Given the description of an element on the screen output the (x, y) to click on. 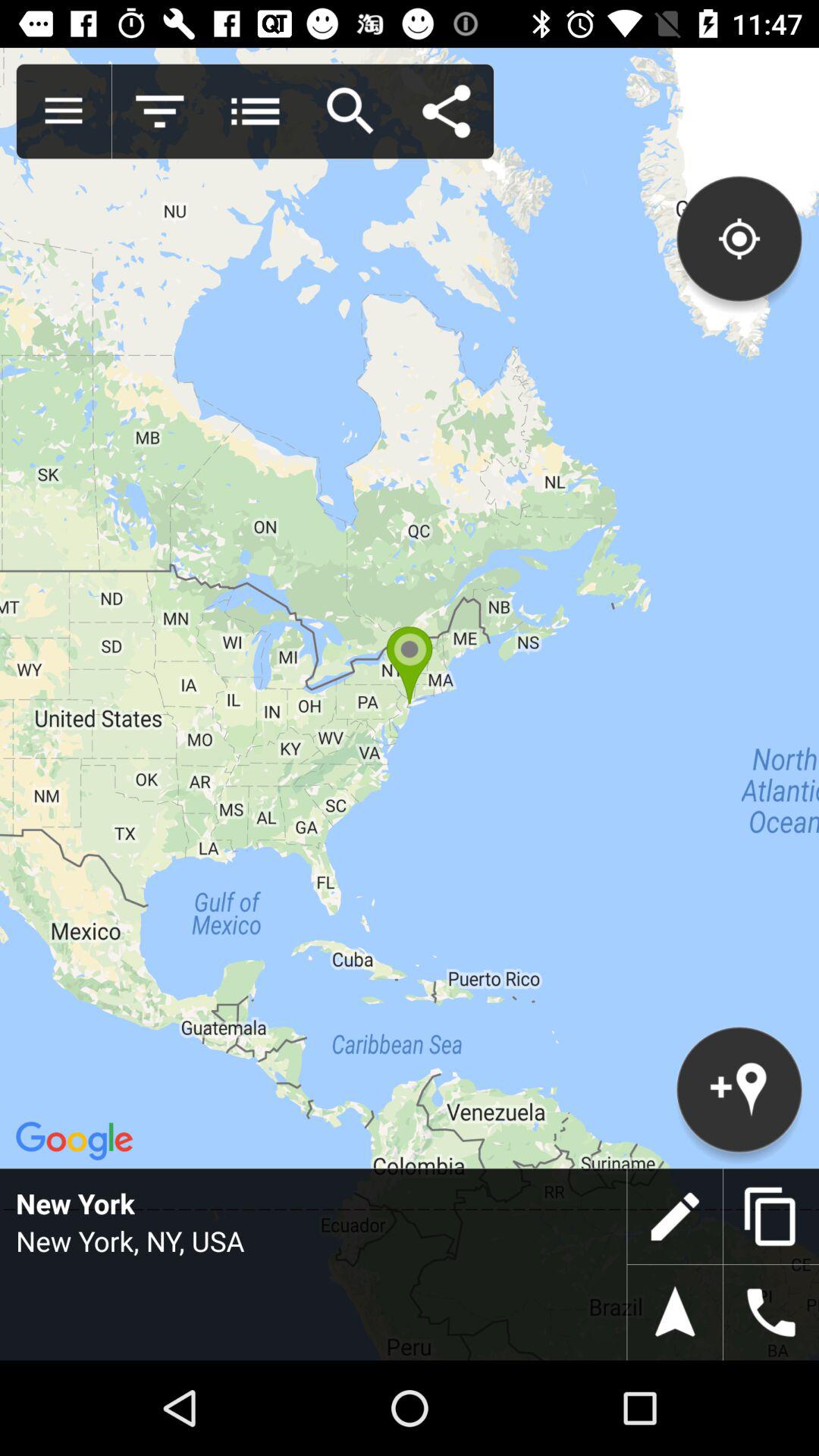
open phone (771, 1312)
